Given the description of an element on the screen output the (x, y) to click on. 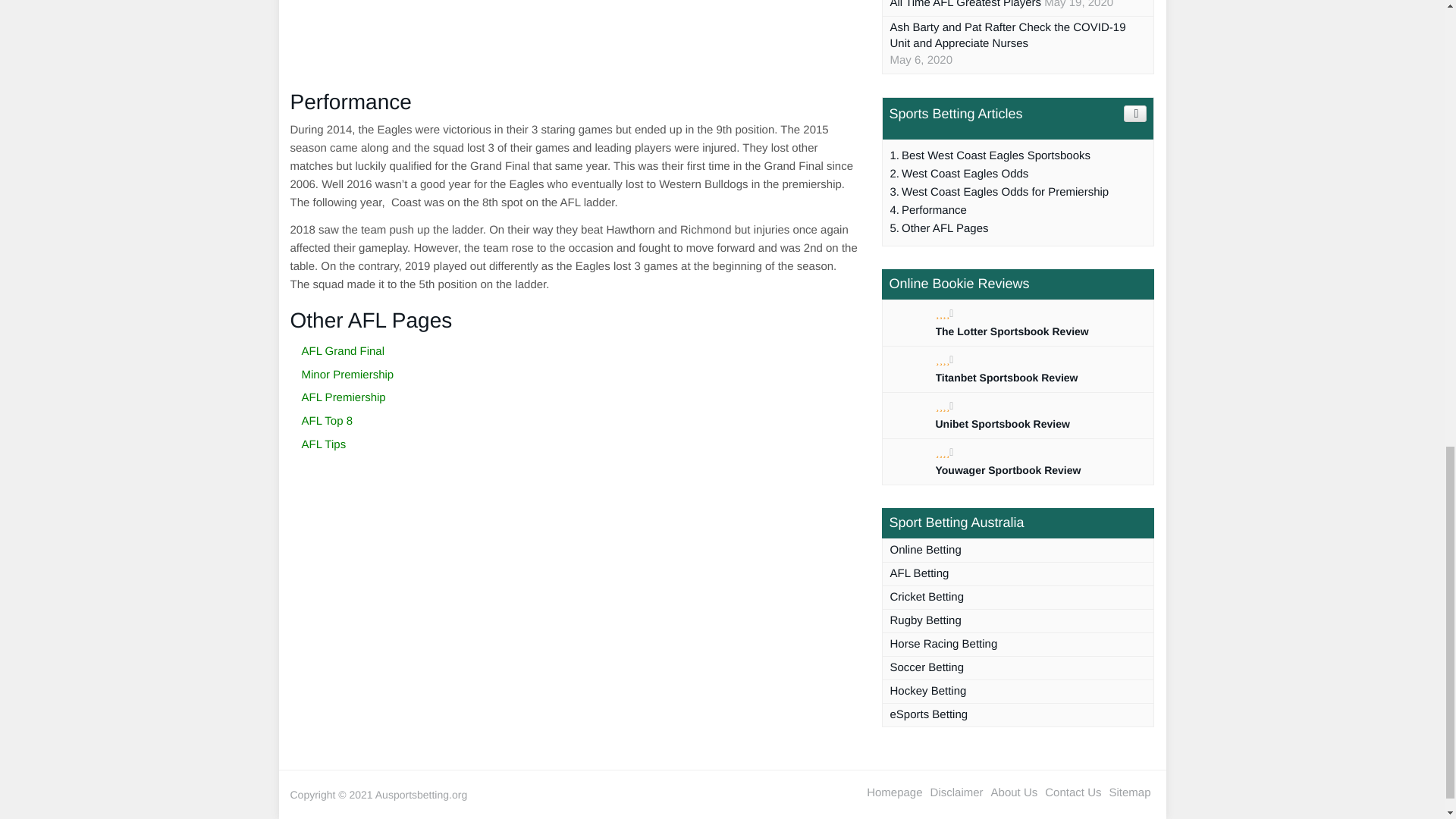
West Coast Eagles Odds for Premiership (999, 192)
4 out of 5 stars from 160 Reviews (944, 358)
4 out of 5 stars from 130 Reviews (944, 313)
4 out of 5 stars from 240 Reviews (944, 405)
Performance (927, 210)
West Coast Eagles Odds (959, 174)
Other AFL Pages (938, 229)
4 out of 5 stars from 140 Reviews (944, 451)
Best West Coast Eagles Sportsbooks (989, 156)
